Given the description of an element on the screen output the (x, y) to click on. 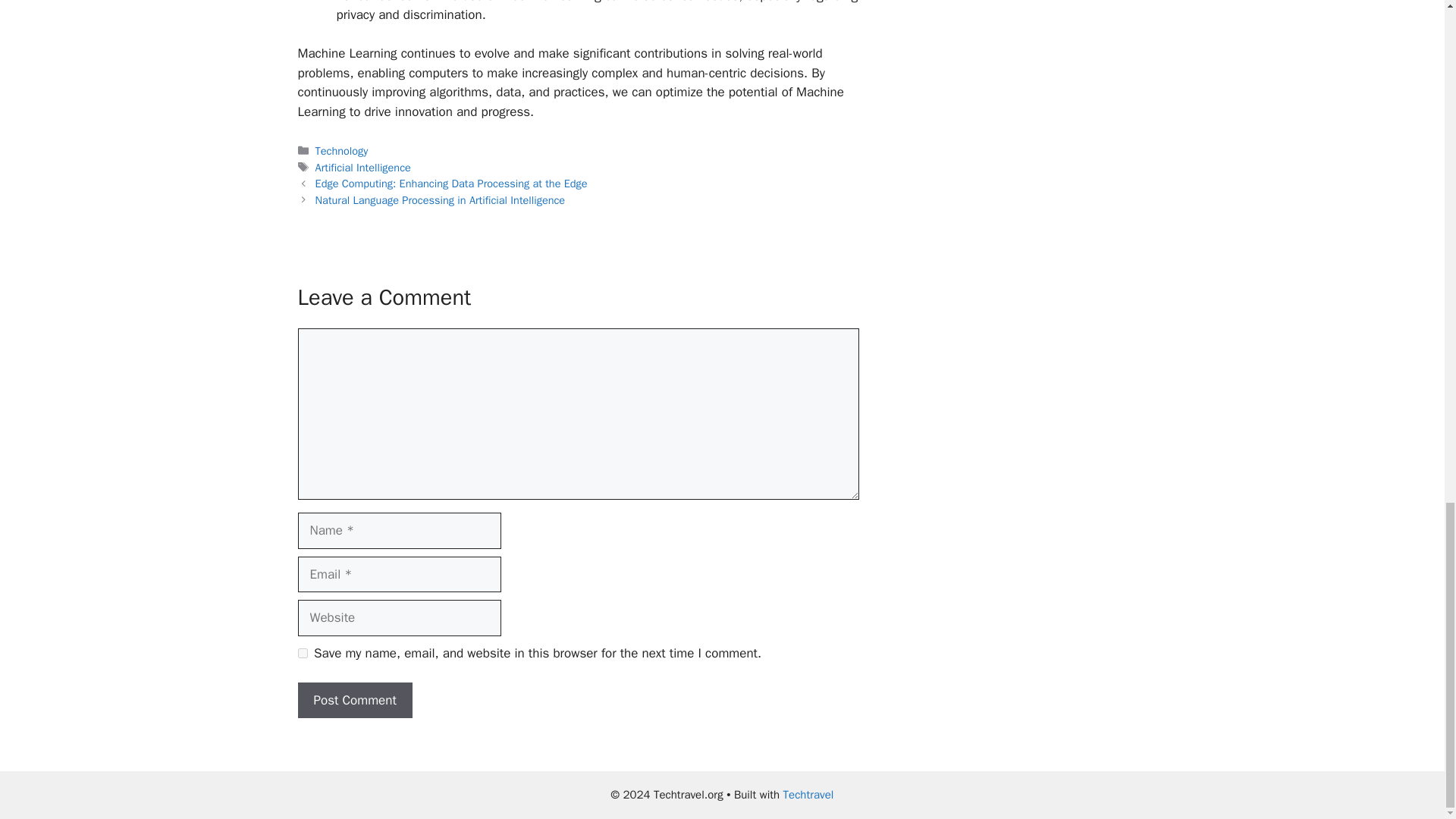
Technology (341, 151)
Artificial Intelligence (362, 167)
Natural Language Processing in Artificial Intelligence (440, 200)
Post Comment (354, 700)
Edge Computing: Enhancing Data Processing at the Edge (451, 183)
Post Comment (354, 700)
yes (302, 653)
Techtravel (808, 794)
